Given the description of an element on the screen output the (x, y) to click on. 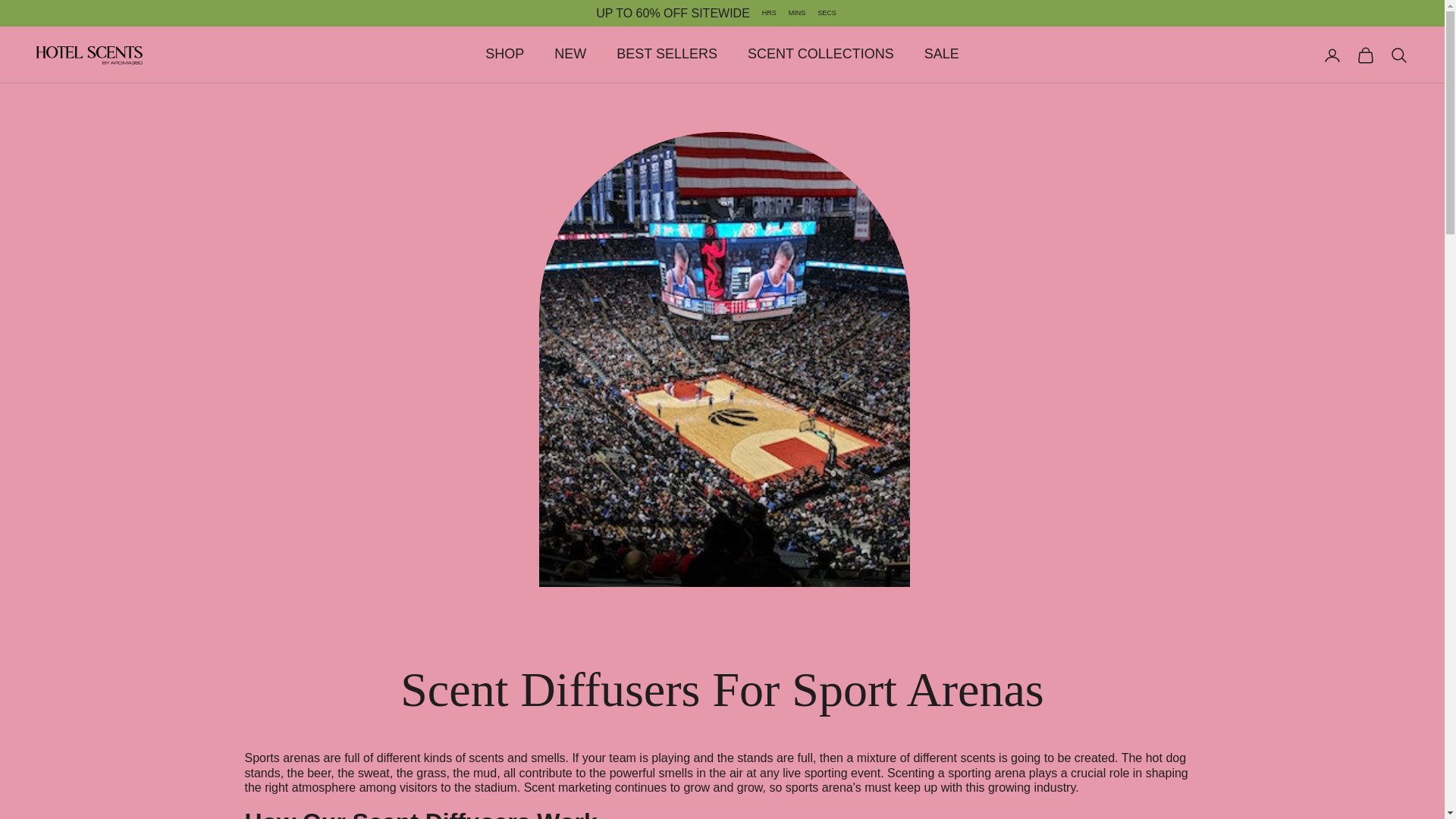
NEW (570, 53)
BEST SELLERS (666, 53)
SALE (941, 53)
Open search (1398, 54)
Hotel Scents (89, 54)
Open cart (1365, 54)
Open account page (1331, 54)
